Given the description of an element on the screen output the (x, y) to click on. 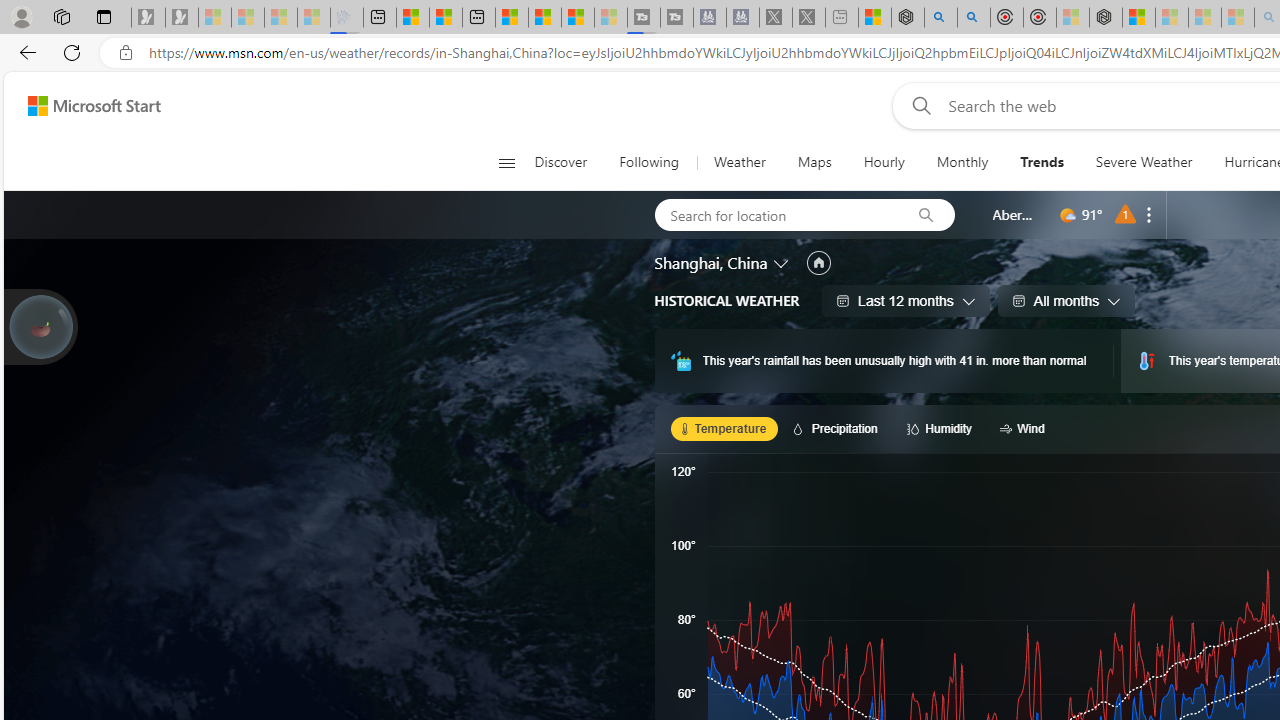
Tab actions menu (104, 16)
Remove location (1149, 214)
Maps (813, 162)
View site information (125, 53)
Skip to footer (82, 105)
Hourly (884, 162)
Precipitation (838, 428)
Class: button-glyph (505, 162)
Shanghai, China (711, 263)
Search for location (776, 214)
Wind (1025, 428)
